Given the description of an element on the screen output the (x, y) to click on. 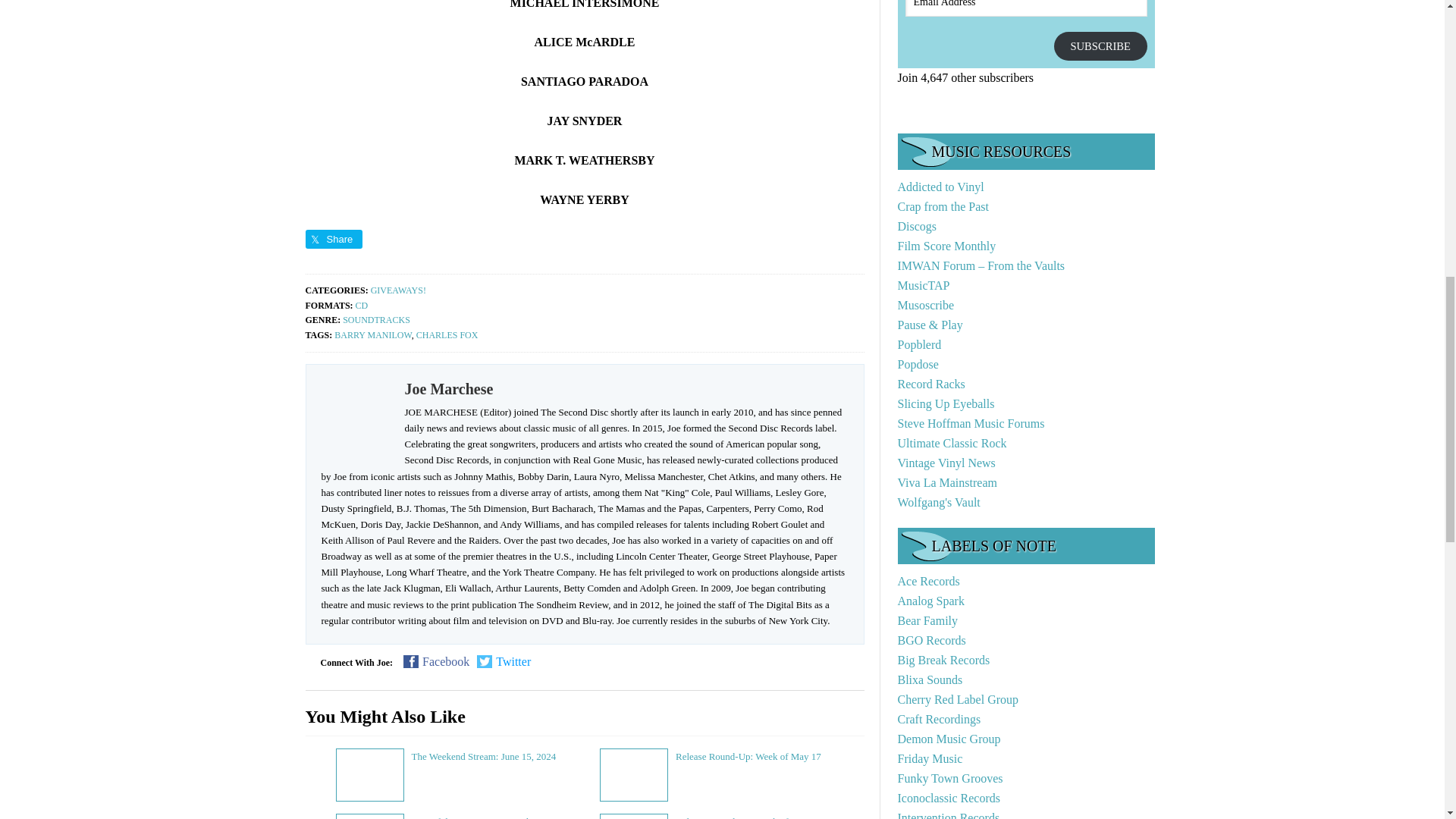
Permanent Link toRelease Round-Up: Week of May 17 (748, 756)
Permanent Link toRelease Round-Up: Week of January 26 (753, 817)
Permanent Link toThe Weekend Stream: June 15, 2024 (483, 756)
Joe Marchese on Facebook (435, 661)
Permanent Link toBeautiful Music: Barry Manilow's  (495, 817)
Joe Marchese on Twitter (504, 661)
